Given the description of an element on the screen output the (x, y) to click on. 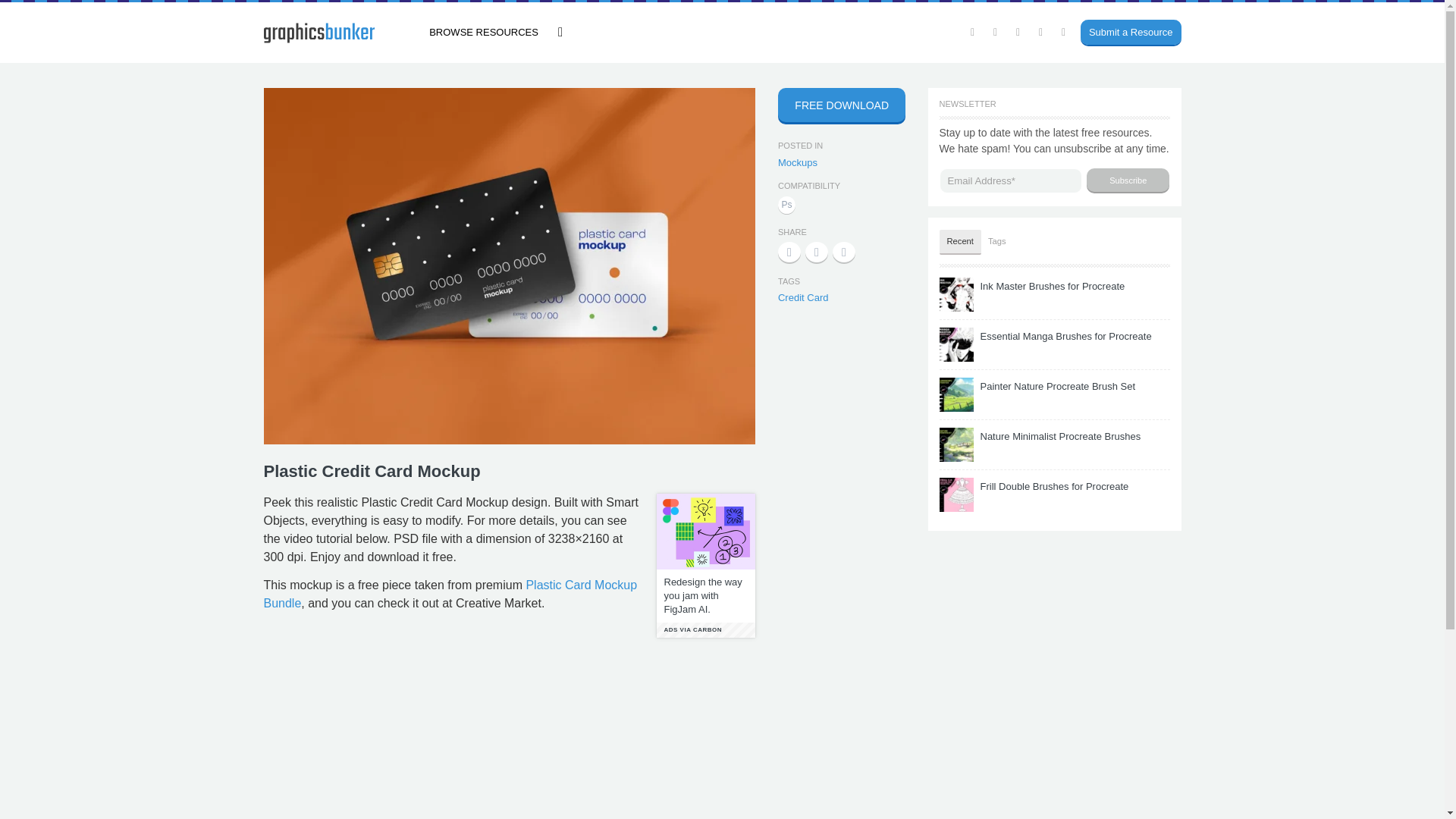
FREE DOWNLOAD (841, 104)
Mockups (796, 162)
Subscribe (1127, 179)
Rss (1063, 31)
Credit Card (802, 297)
Free Download (841, 110)
Subscribe (1127, 179)
Plastic Card Tutorial (509, 735)
ADS VIA CARBON (705, 630)
Redesign the way you jam with FigJam AI. (705, 596)
Twitter (972, 31)
Facebook (995, 31)
Plastic Card Mockup Bundle (450, 593)
Pinterest (1040, 31)
Submit a Resource (1125, 32)
